Given the description of an element on the screen output the (x, y) to click on. 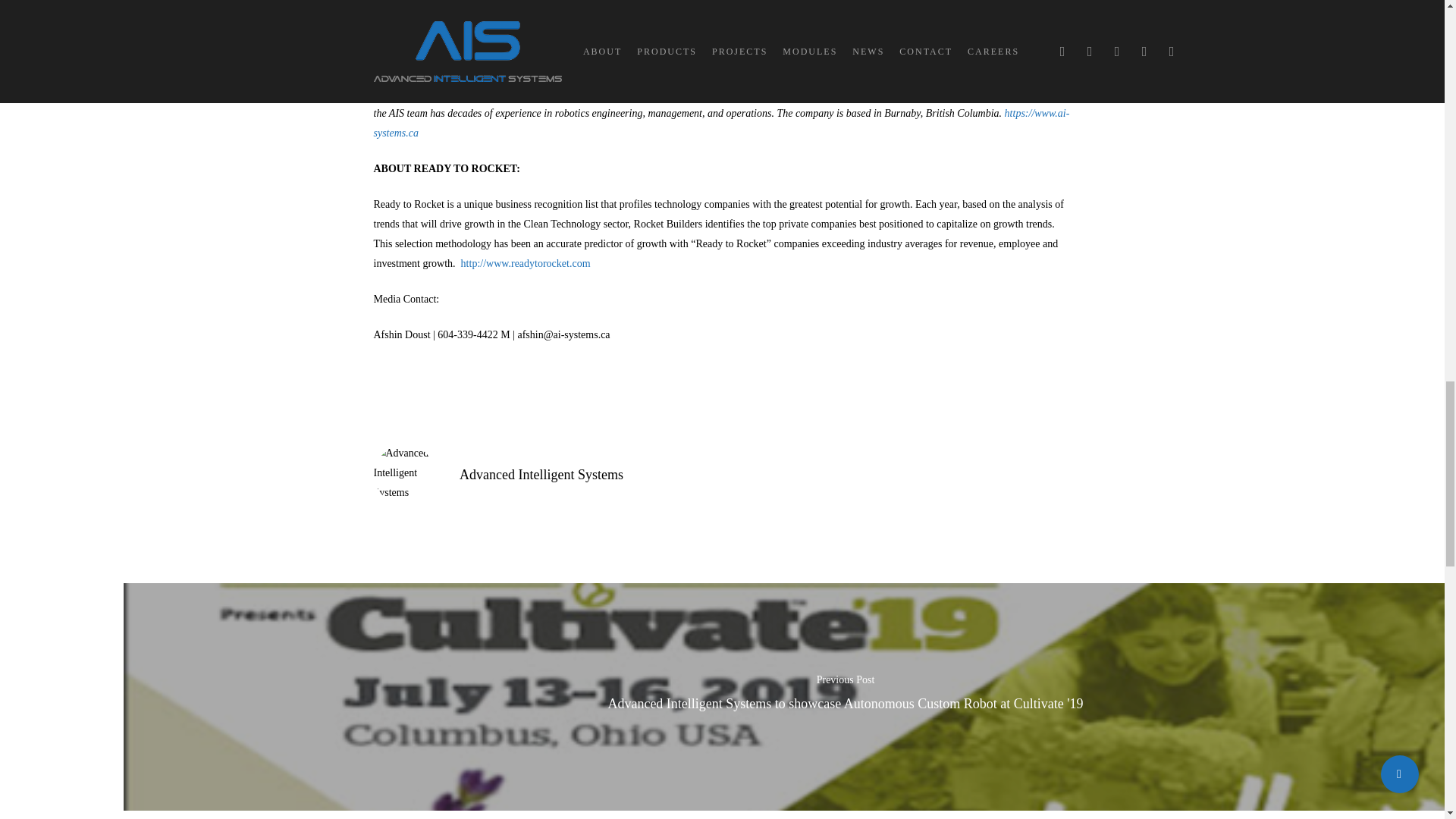
Advanced Intelligent Systems (541, 474)
